Given the description of an element on the screen output the (x, y) to click on. 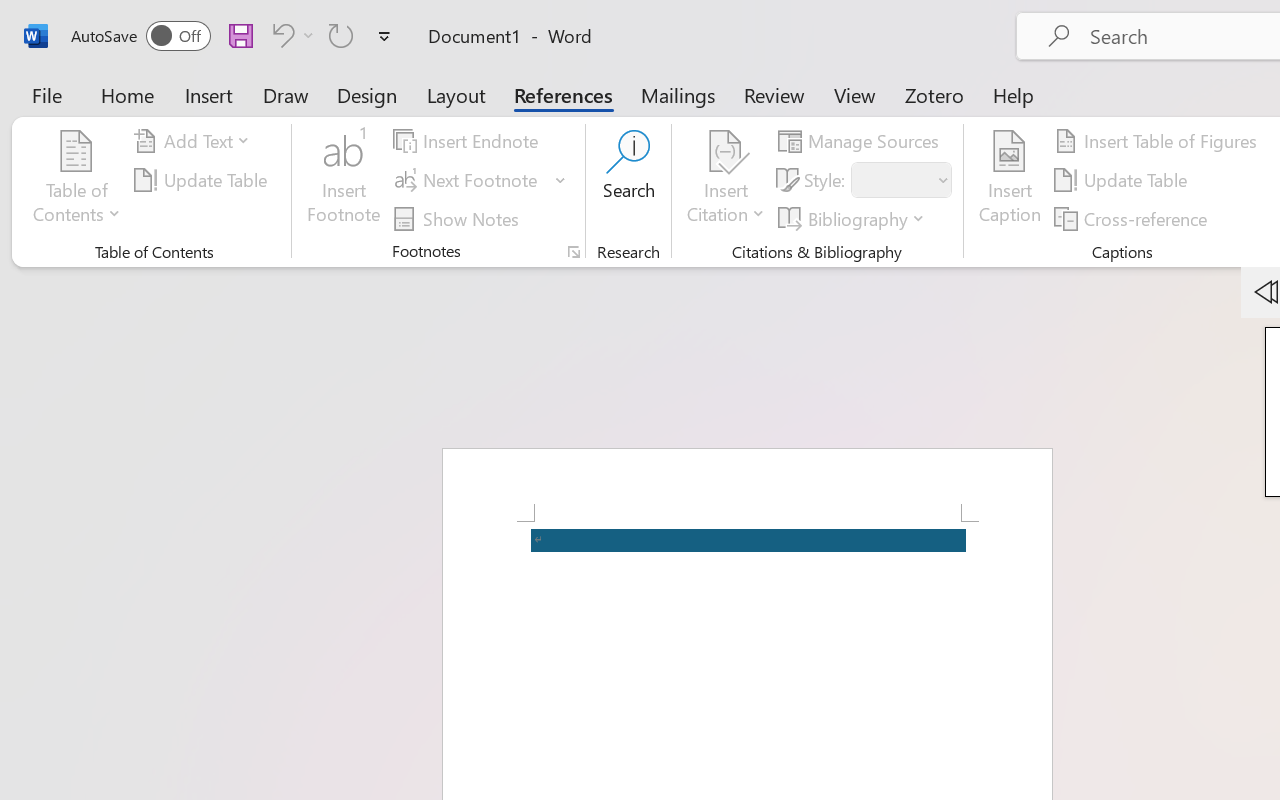
Bibliography (854, 218)
Footnote and Endnote Dialog... (573, 252)
Show Notes (459, 218)
